Given the description of an element on the screen output the (x, y) to click on. 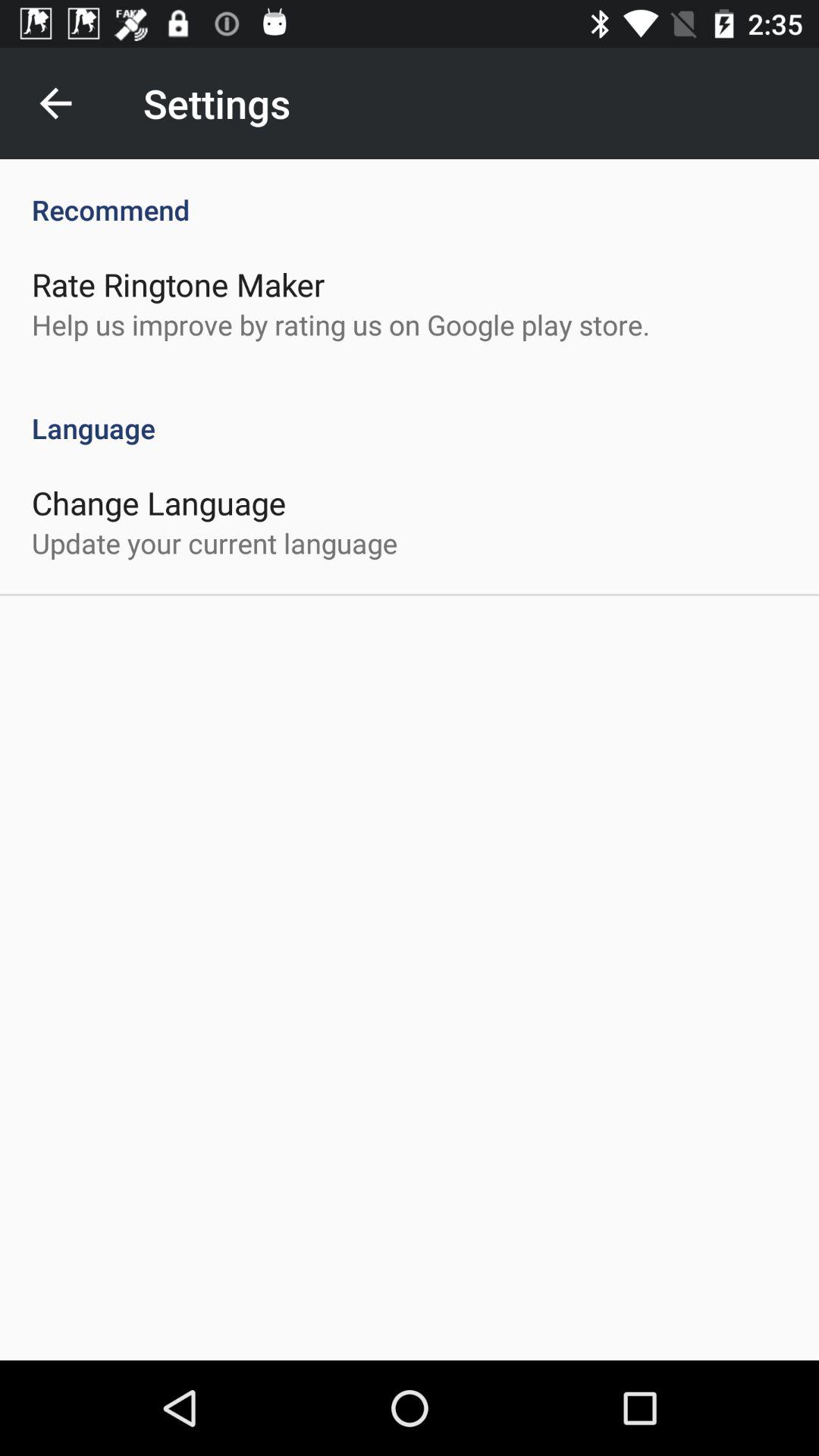
press icon above the help us improve (177, 283)
